Given the description of an element on the screen output the (x, y) to click on. 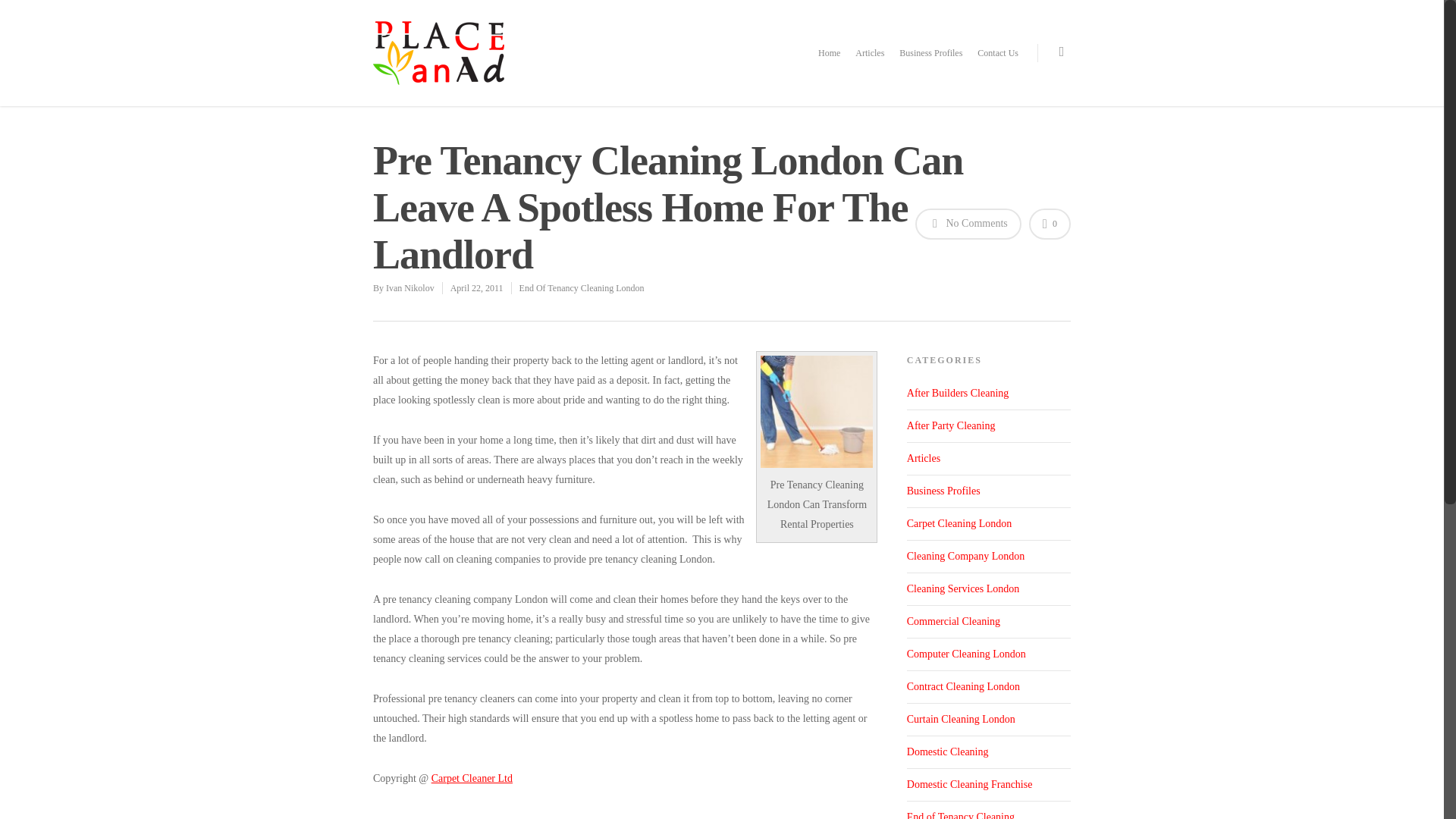
Contract Cleaning London (988, 686)
Love this (1049, 223)
After Builders Cleaning (988, 397)
0 (1049, 223)
Cleaning Company London (988, 556)
Posts by Ivan Nikolov (409, 287)
Business Profiles (988, 491)
Curtain Cleaning London (988, 719)
End of Tenancy Cleaning (988, 810)
After Party Cleaning (988, 426)
Computer Cleaning London (988, 654)
Carpet Cleaning London (988, 523)
Domestic Cleaning (988, 752)
Cleaning Services London (988, 589)
End Of Tenancy Cleaning London (582, 287)
